Given the description of an element on the screen output the (x, y) to click on. 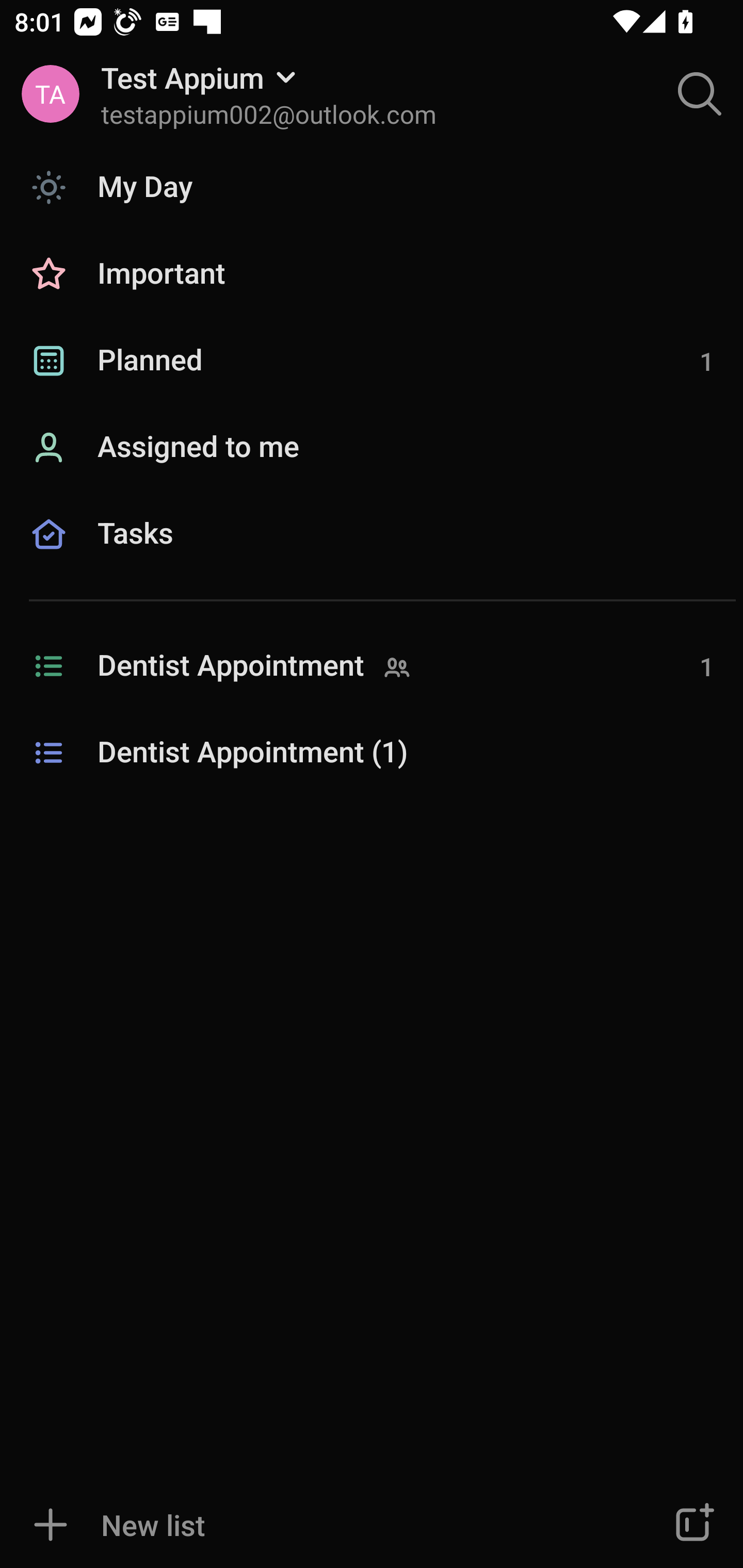
Enter search (699, 93)
My Day, 0 tasks My Day (371, 187)
Important, 0 tasks Important (371, 274)
Planned, 1 tasks Planned 1 (371, 361)
Assigned to me, 0 tasks Assigned to me (371, 447)
Tasks (371, 556)
Dentist Appointment (1) (371, 753)
New list (312, 1524)
Create group (692, 1524)
